Given the description of an element on the screen output the (x, y) to click on. 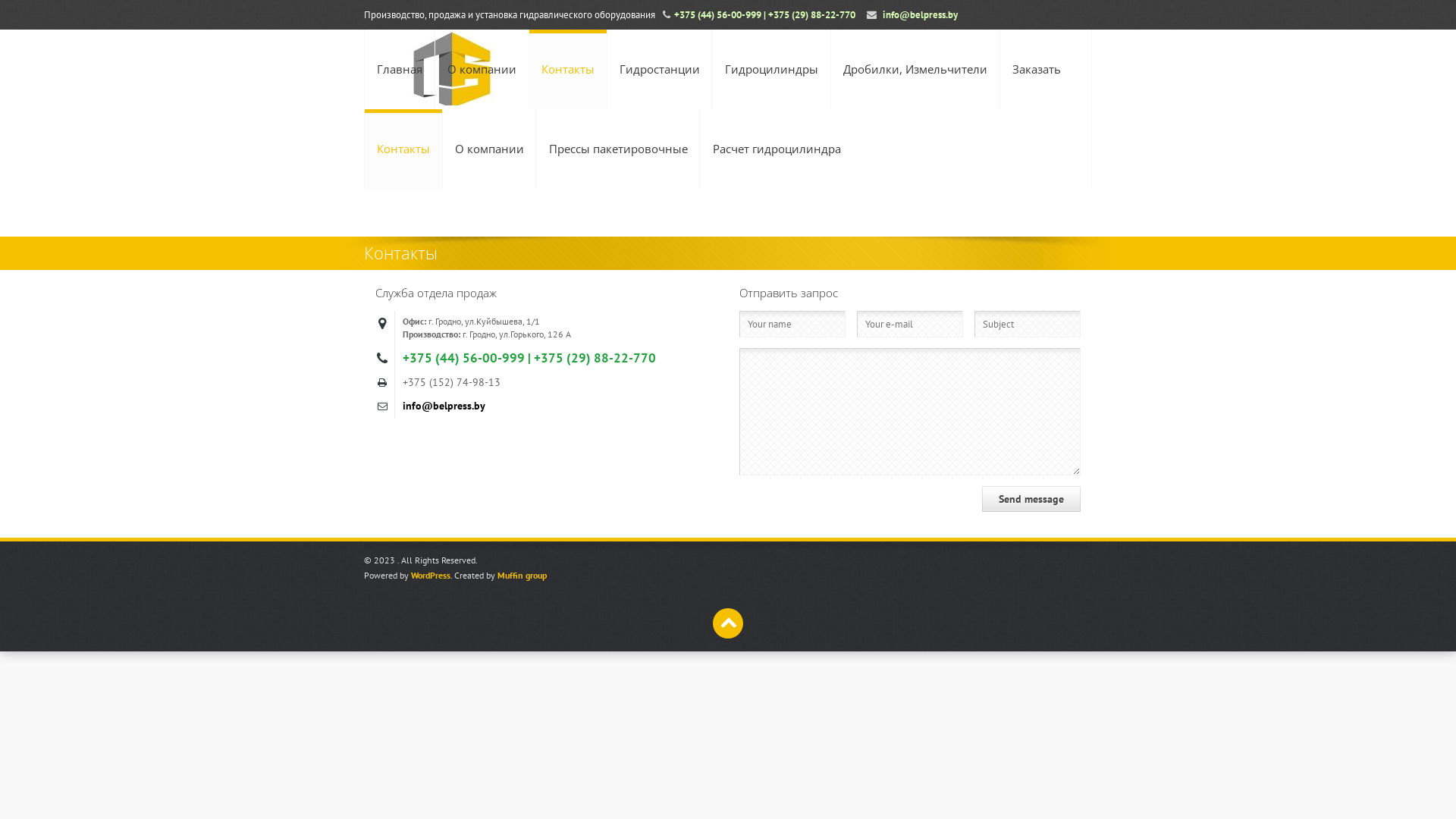
info@belpress.by Element type: text (919, 14)
WordPress Element type: text (430, 574)
Send message Element type: text (1031, 498)
Muffin group Element type: text (521, 574)
info@belpress.by Element type: text (443, 405)
+375 (44) 56-00-999 | +375 (29) 88-22-770 Element type: text (764, 14)
